Given the description of an element on the screen output the (x, y) to click on. 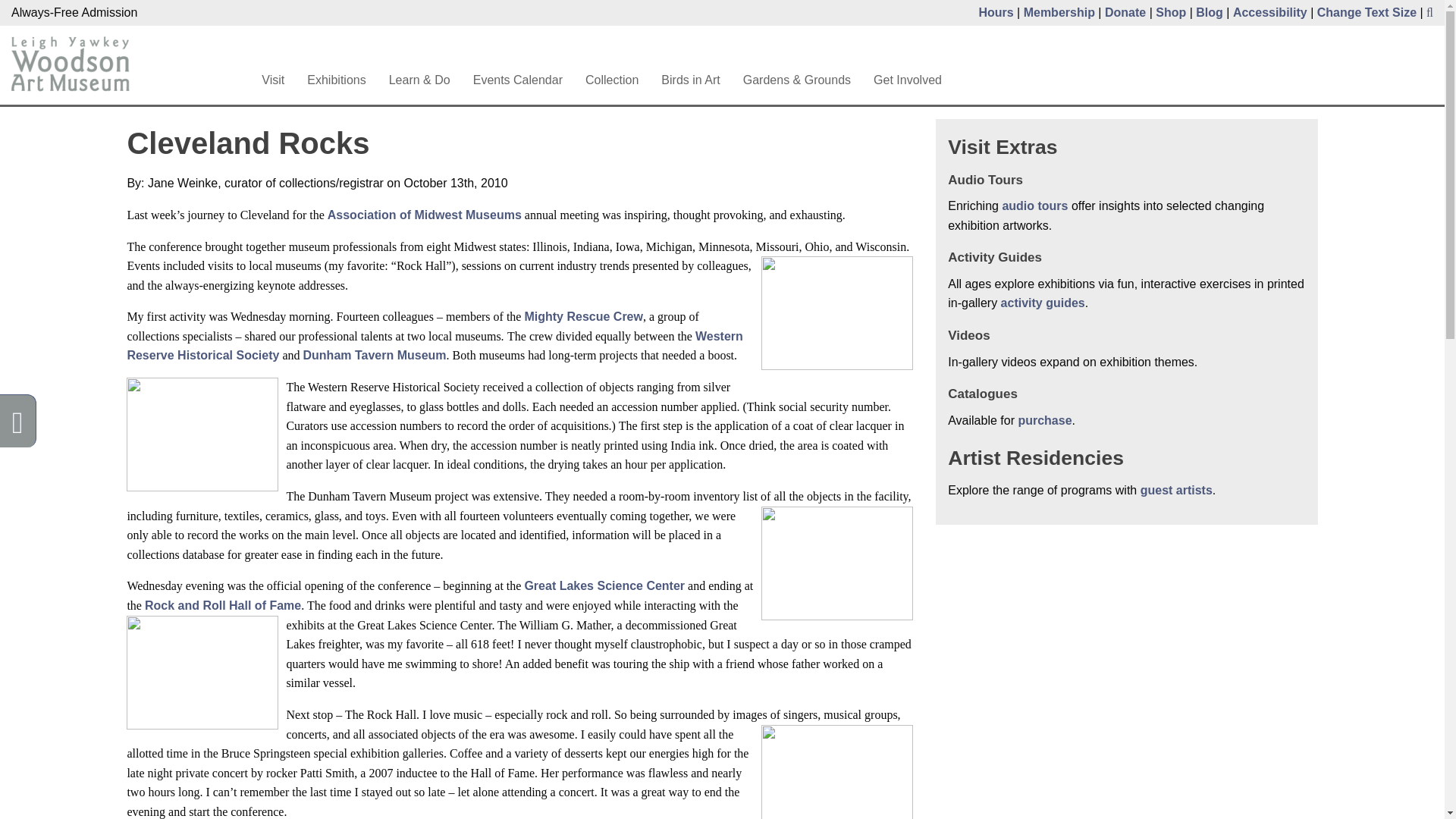
Exhibitions (336, 80)
Change Text Size (1366, 11)
Hours (995, 11)
Donate (1125, 11)
Shop (1171, 11)
Blog (1209, 11)
Accessibility (1270, 11)
Membership (1058, 11)
Go (926, 50)
